Given the description of an element on the screen output the (x, y) to click on. 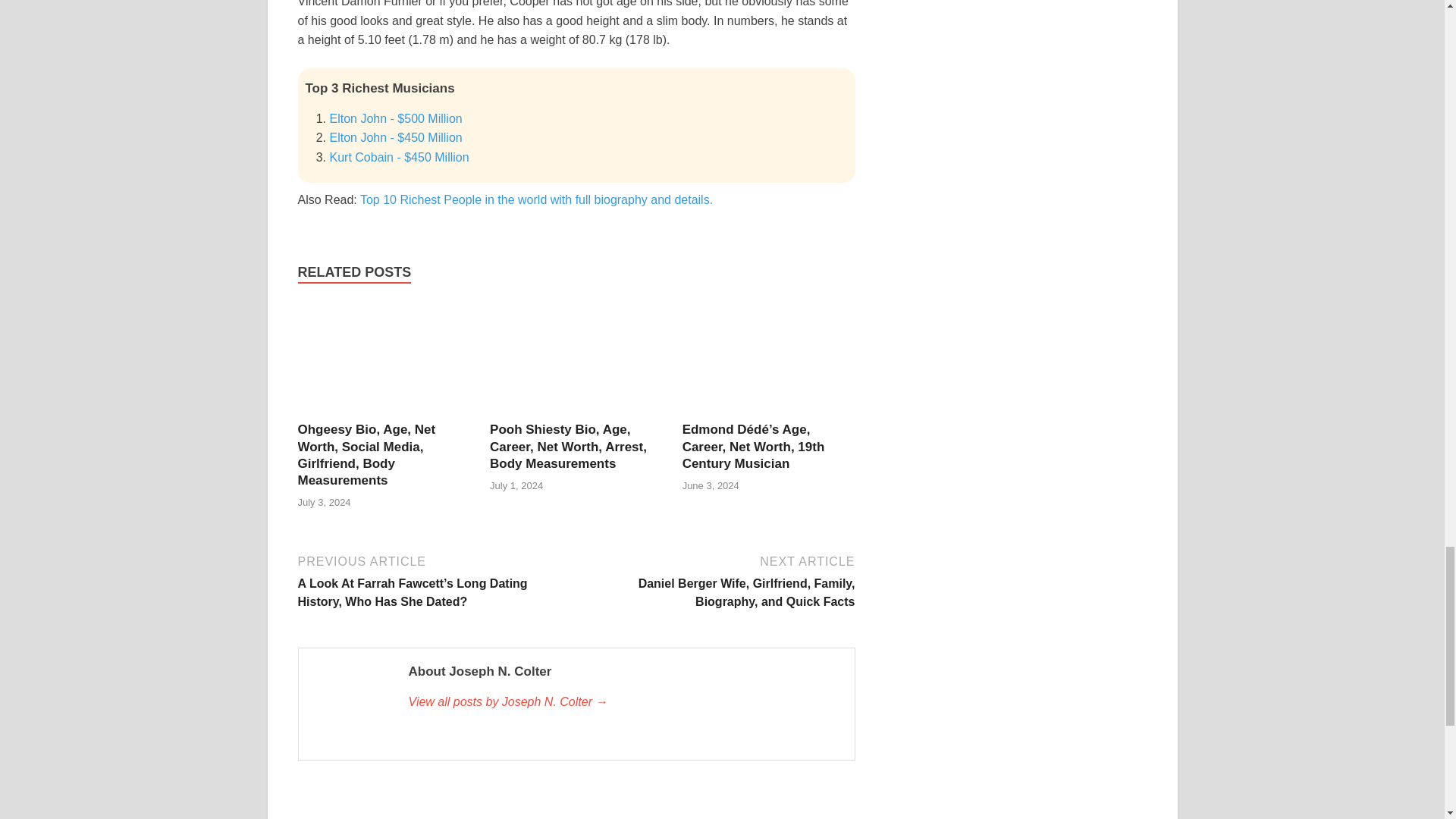
Joseph N. Colter (622, 701)
Kurt Cobain (398, 156)
Elton John (395, 137)
Elton John (395, 118)
